Given the description of an element on the screen output the (x, y) to click on. 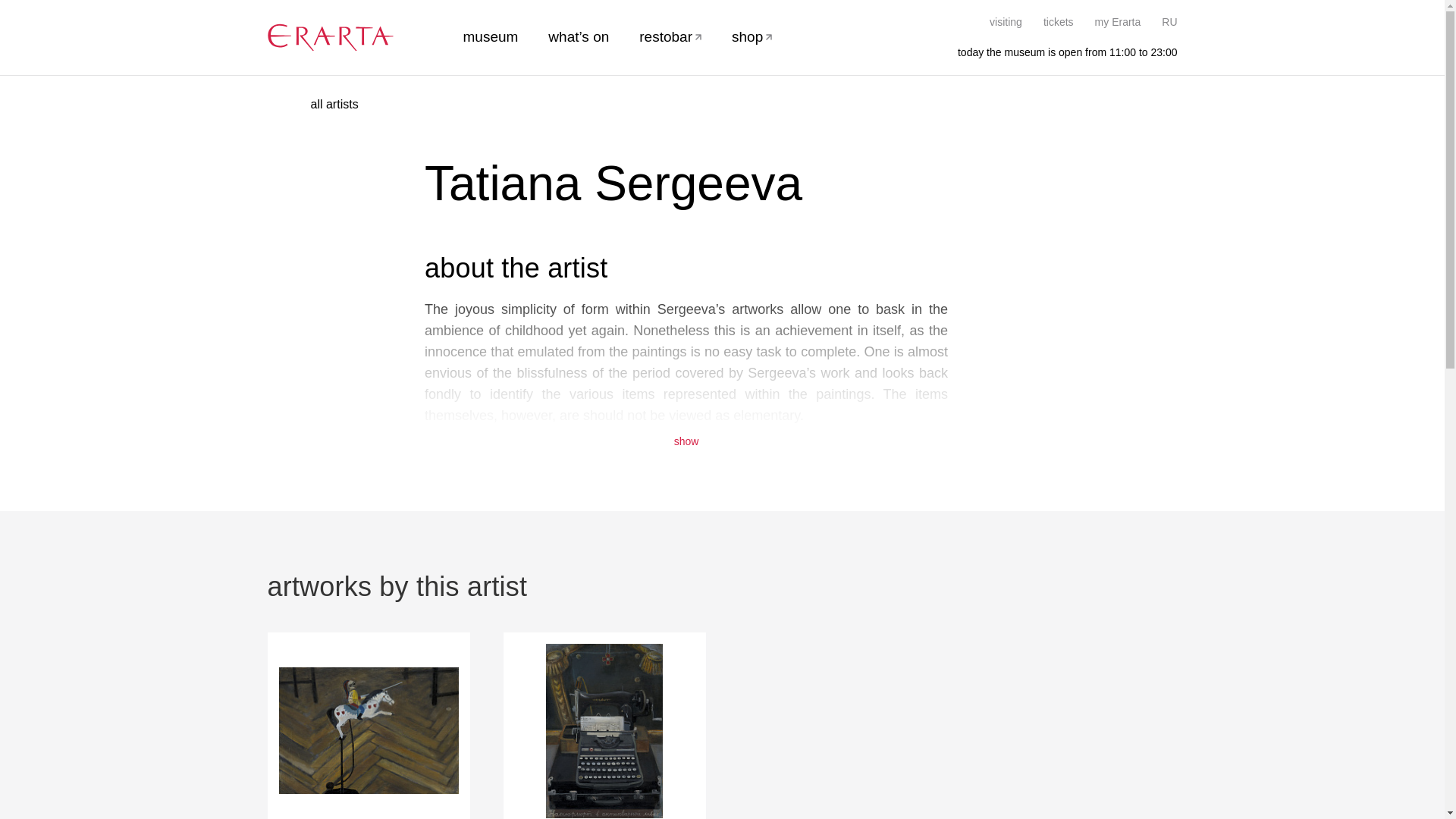
museum (490, 36)
my Erarta (1117, 21)
visiting (1006, 21)
all artists (342, 104)
show (686, 437)
restobar (670, 36)
shop (751, 36)
today the museum is open from 11:00 to 23:00 (1058, 51)
RU (1168, 21)
tickets (1058, 21)
